Given the description of an element on the screen output the (x, y) to click on. 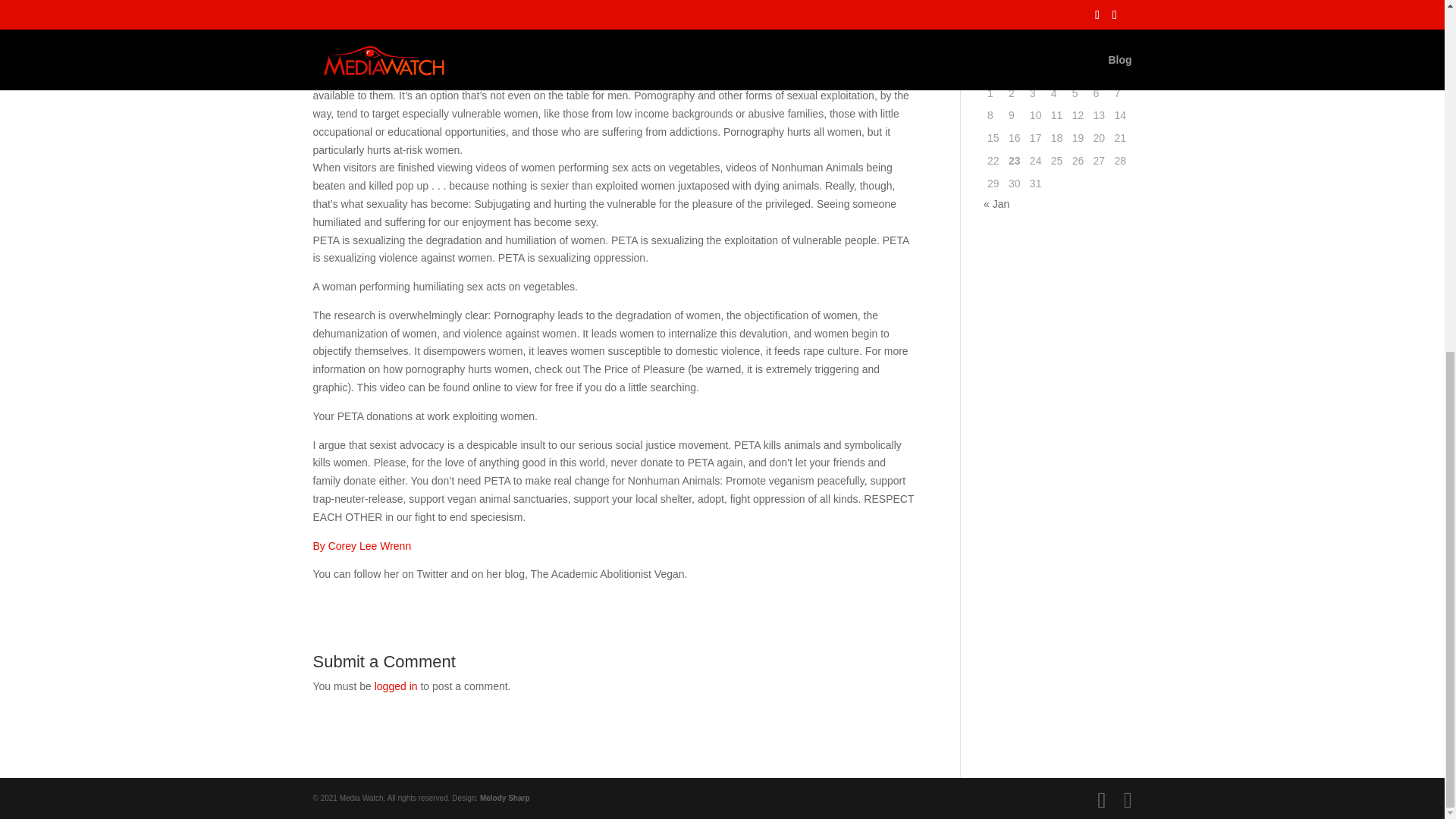
By Corey Lee Wrenn (361, 545)
logged in (395, 686)
Melody Sharp (504, 797)
Thursday (1057, 70)
Sunday (1120, 70)
Wednesday (1036, 70)
Friday (1078, 70)
The Fox Primary For March: Trump Widens His Airtime Lead (1050, 11)
Monday (994, 70)
Saturday (1099, 70)
Tuesday (1015, 70)
